Given the description of an element on the screen output the (x, y) to click on. 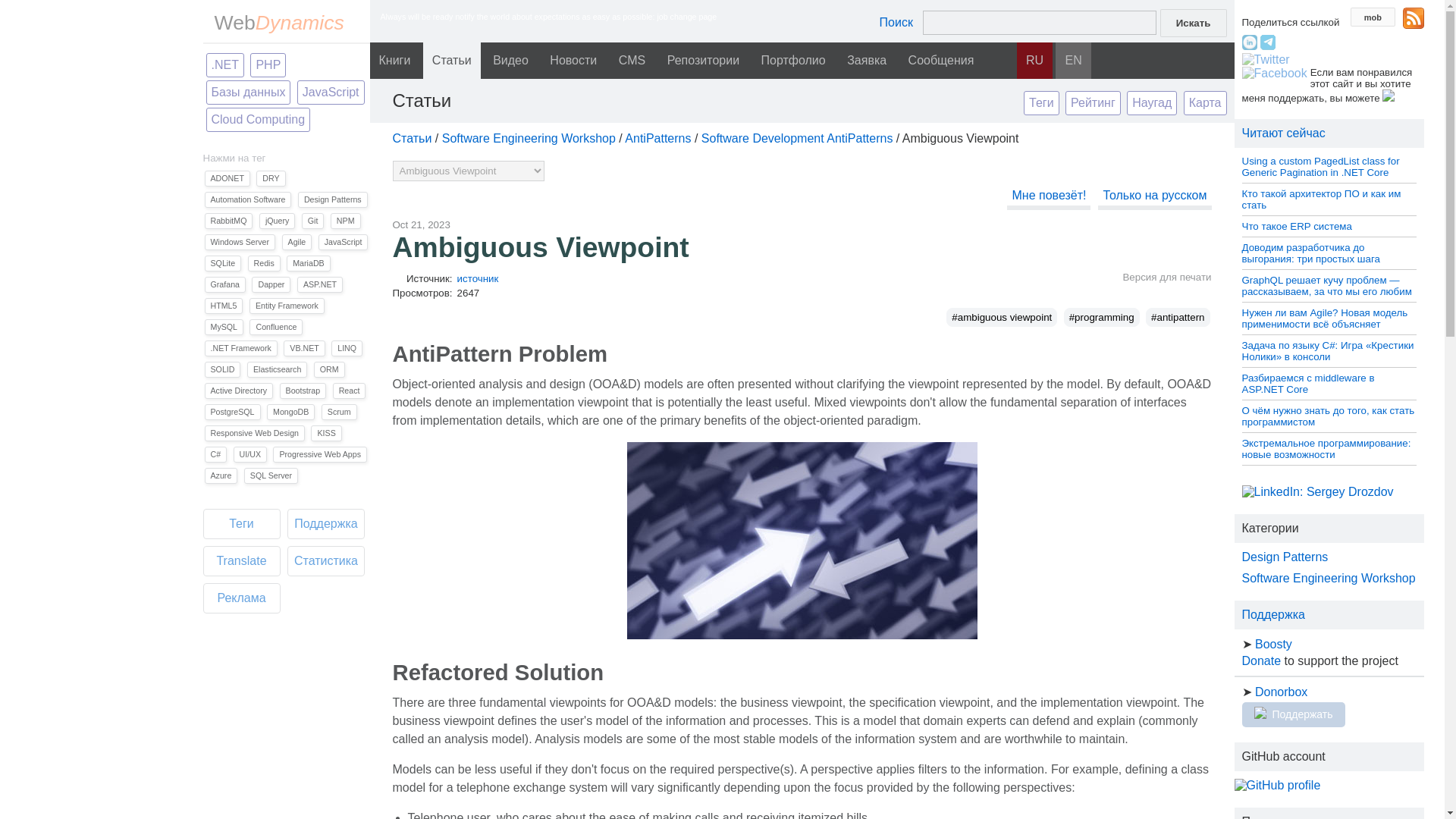
SOLID (223, 368)
.NET Framework (241, 347)
MySQL (224, 326)
MariaDB (308, 262)
VB.NET (303, 347)
Windows Server (240, 241)
JavaScript (343, 241)
Responsive Web Design (255, 432)
MongoDB (290, 411)
Agile (297, 241)
